Given the description of an element on the screen output the (x, y) to click on. 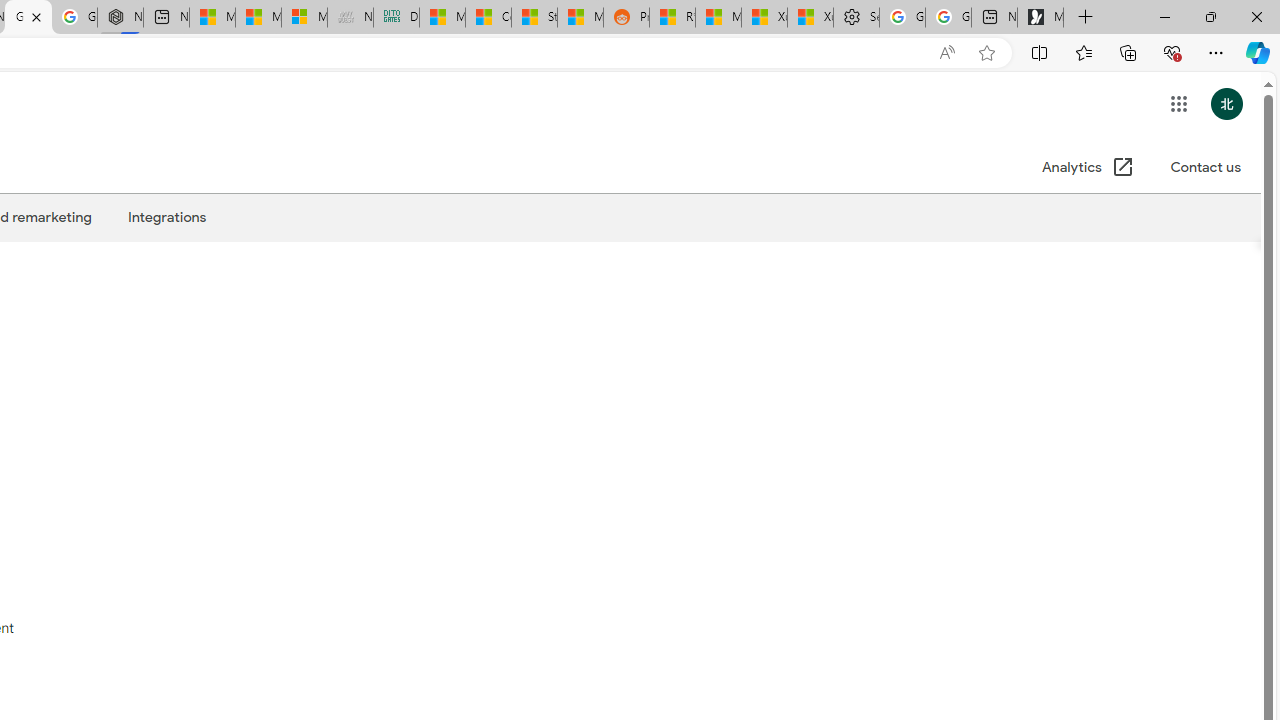
Class: gb_E (1178, 103)
Integrations (166, 217)
Analytics (Open in a new window) (1088, 168)
